Given the description of an element on the screen output the (x, y) to click on. 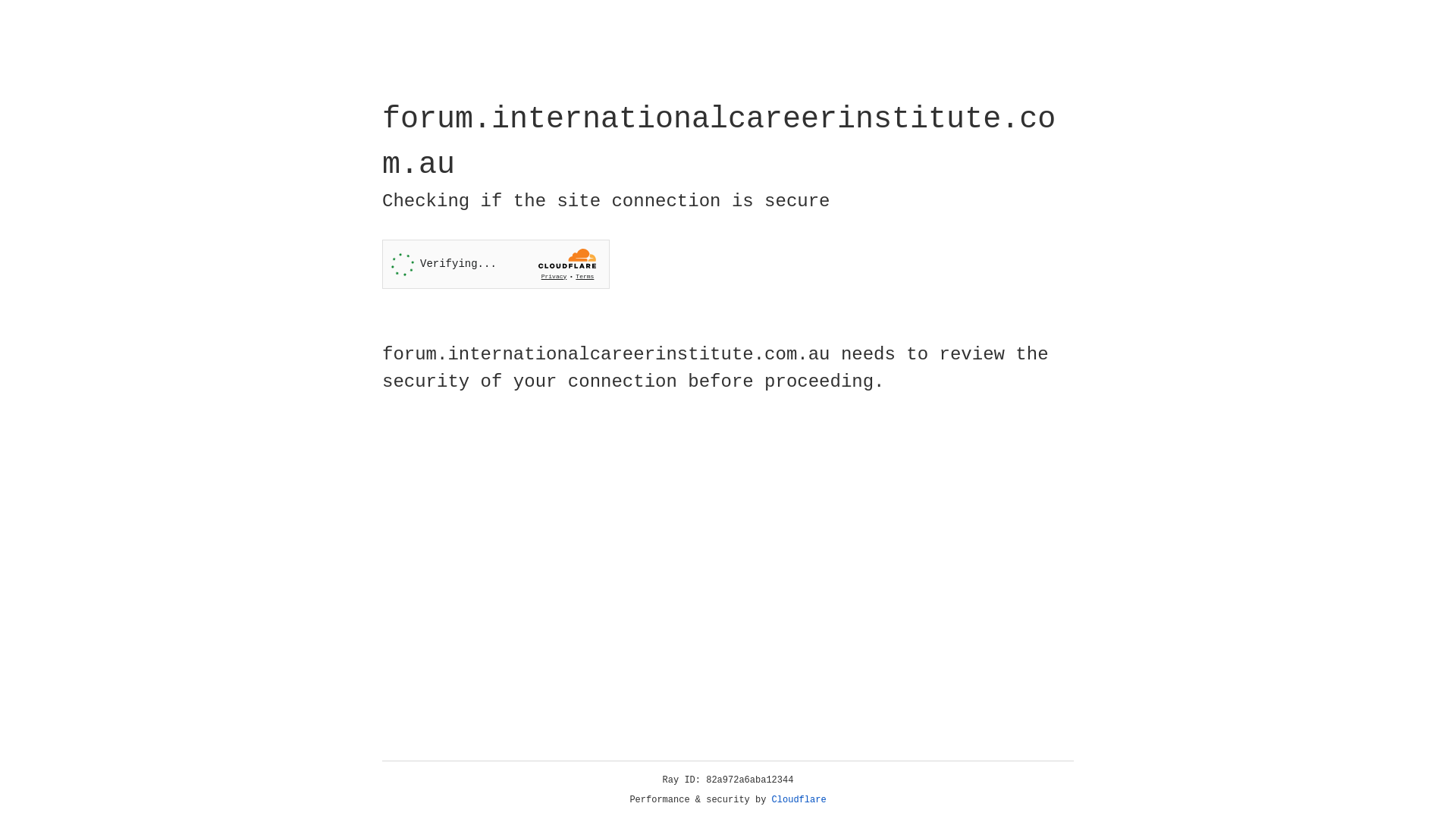
Widget containing a Cloudflare security challenge Element type: hover (495, 263)
Cloudflare Element type: text (798, 799)
